Given the description of an element on the screen output the (x, y) to click on. 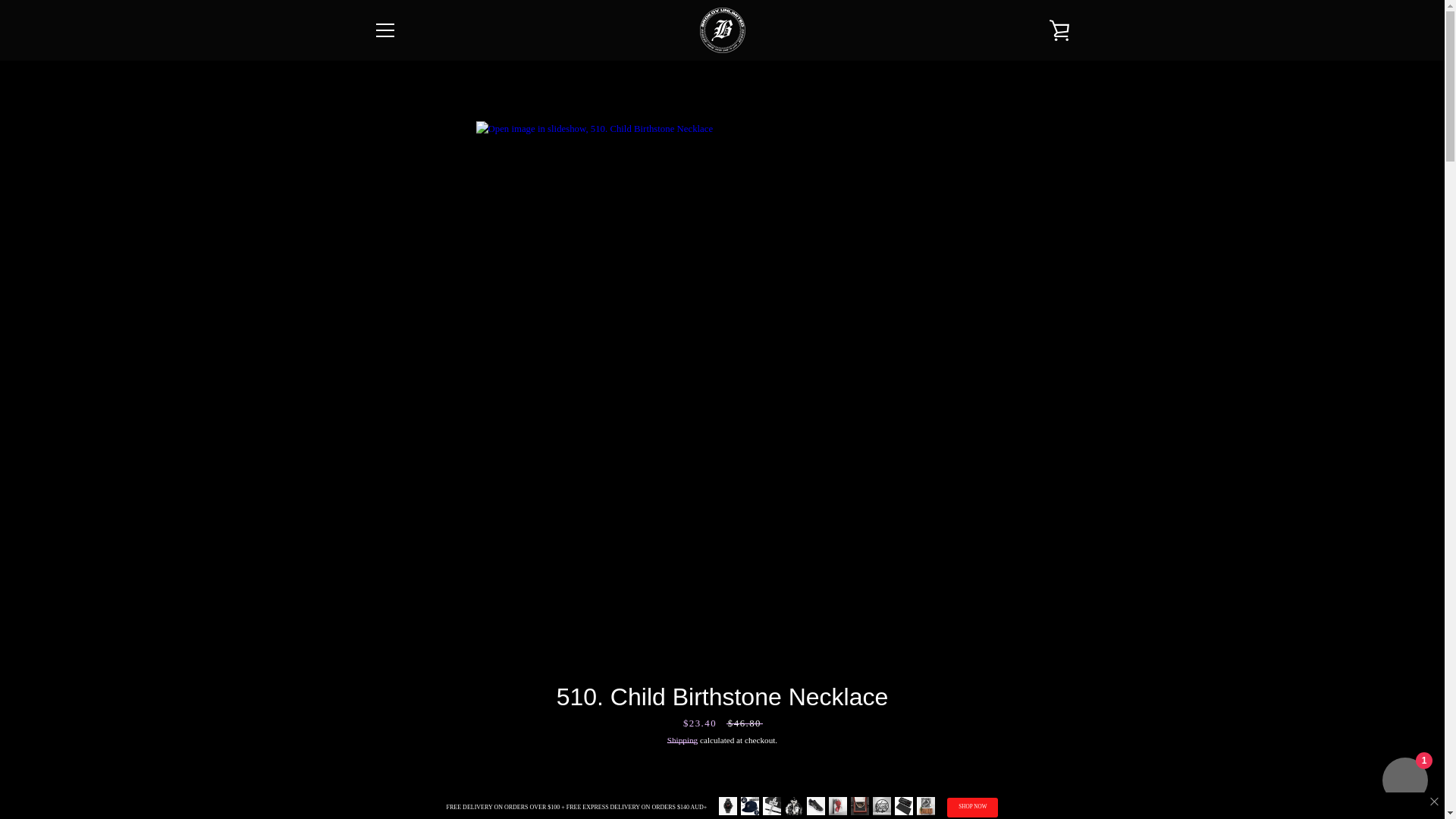
BROKOV UNLIMITED on YouTube (499, 765)
Shop Pay (1057, 755)
BROKOV UNLIMITED on Twitter (398, 765)
Google Pay (953, 755)
MENU (384, 30)
BROKOV UNLIMITED on Facebook (372, 765)
Union Pay (1022, 778)
PayPal (1022, 755)
Shopify online store chat (1404, 781)
BROKOV UNLIMITED on Snapchat (473, 765)
Apple Pay (918, 755)
Visa (1057, 778)
American Express (883, 755)
BROKOV UNLIMITED on Pinterest (423, 765)
